Given the description of an element on the screen output the (x, y) to click on. 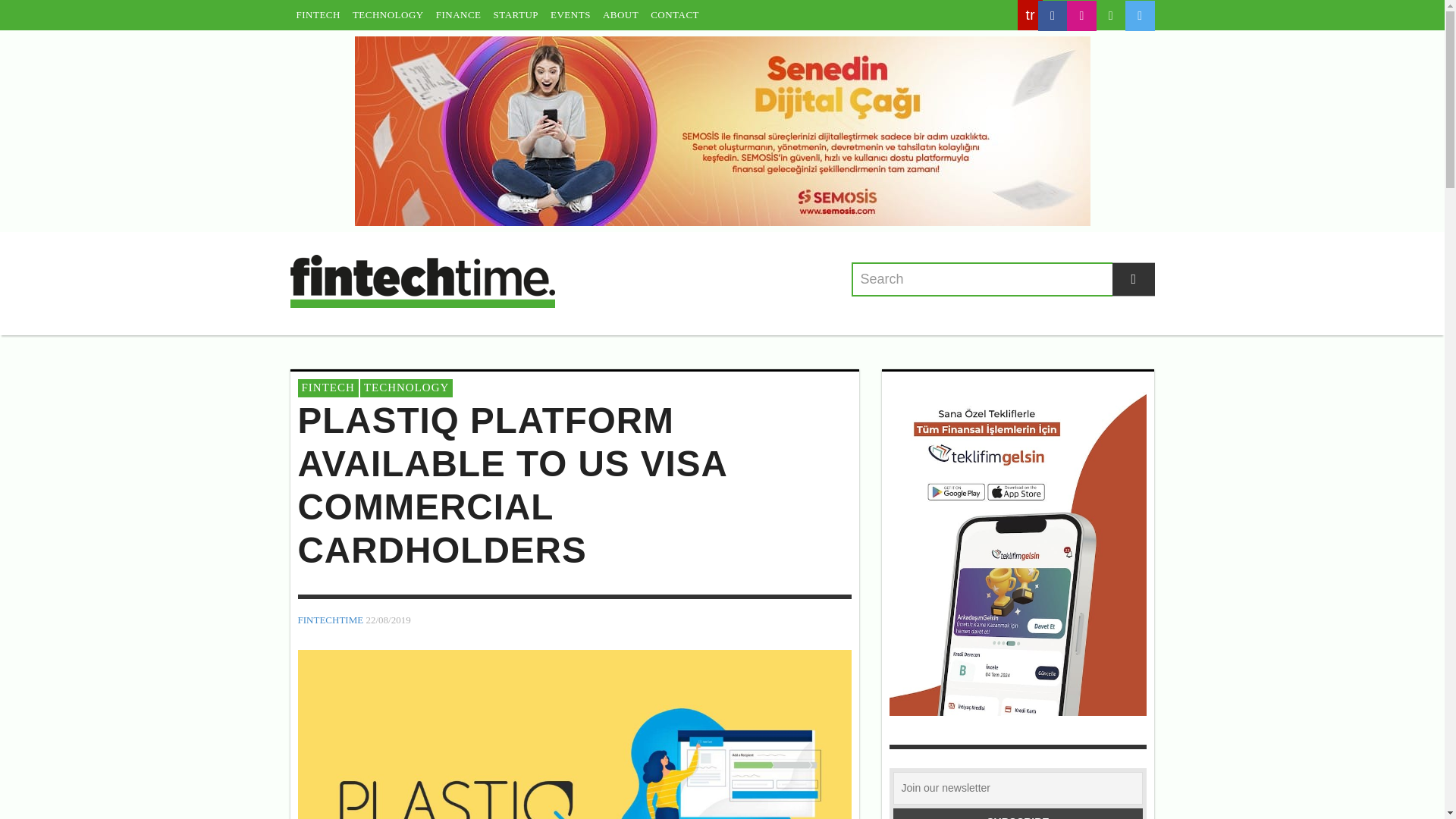
FINTECH (327, 388)
ABOUT (620, 15)
FINTECHTIME (329, 618)
Facebook (1052, 15)
FINANCE (458, 15)
Search (1002, 279)
TECHNOLOGY (387, 15)
FINTECH (317, 15)
EVENTS (570, 15)
